Given the description of an element on the screen output the (x, y) to click on. 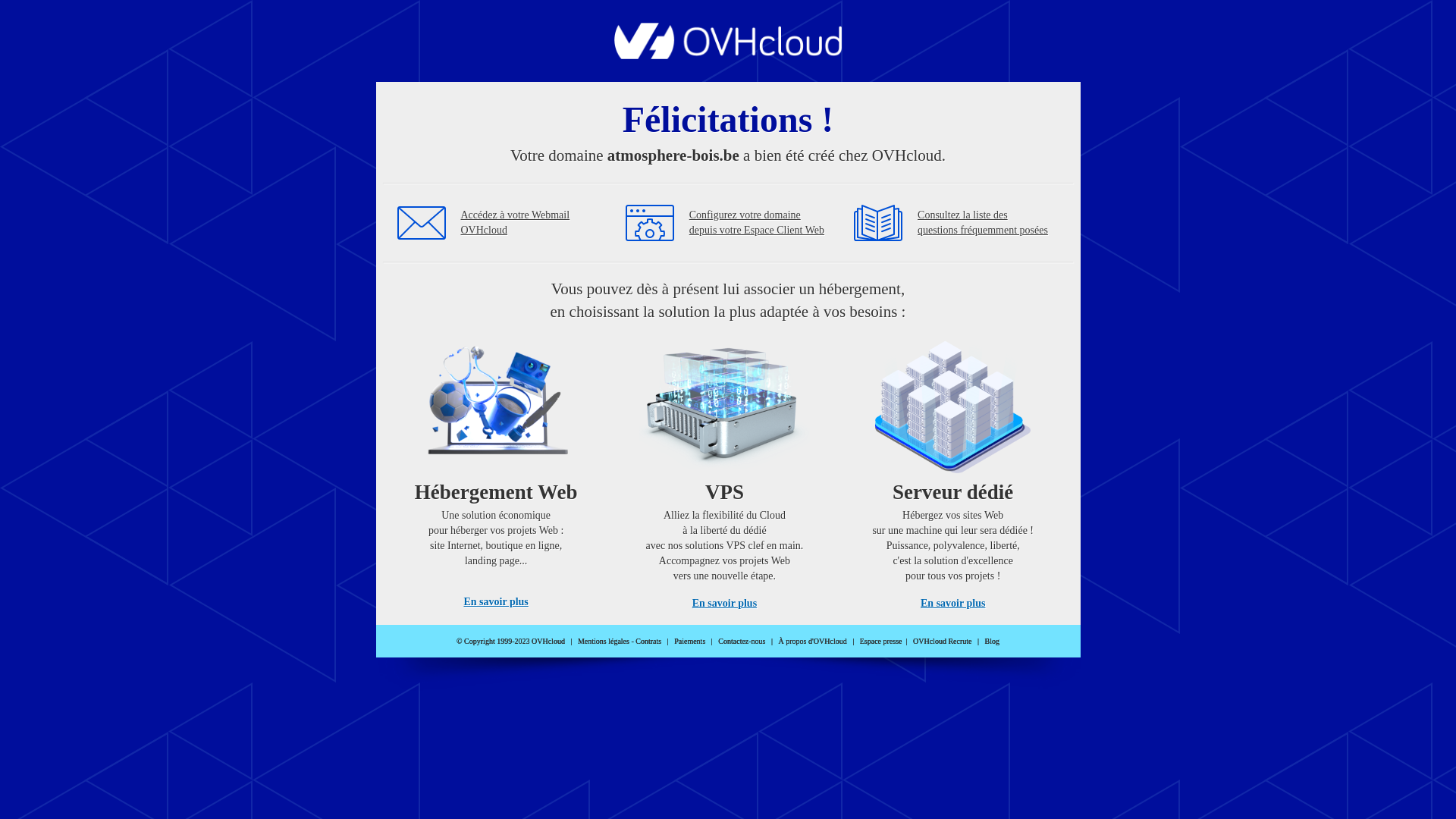
En savoir plus Element type: text (952, 602)
Espace presse Element type: text (880, 641)
VPS Element type: hover (724, 469)
Blog Element type: text (992, 641)
Configurez votre domaine
depuis votre Espace Client Web Element type: text (756, 222)
Paiements Element type: text (689, 641)
OVHcloud Element type: hover (727, 54)
OVHcloud Recrute Element type: text (942, 641)
En savoir plus Element type: text (495, 601)
En savoir plus Element type: text (724, 602)
Contactez-nous Element type: text (741, 641)
